Given the description of an element on the screen output the (x, y) to click on. 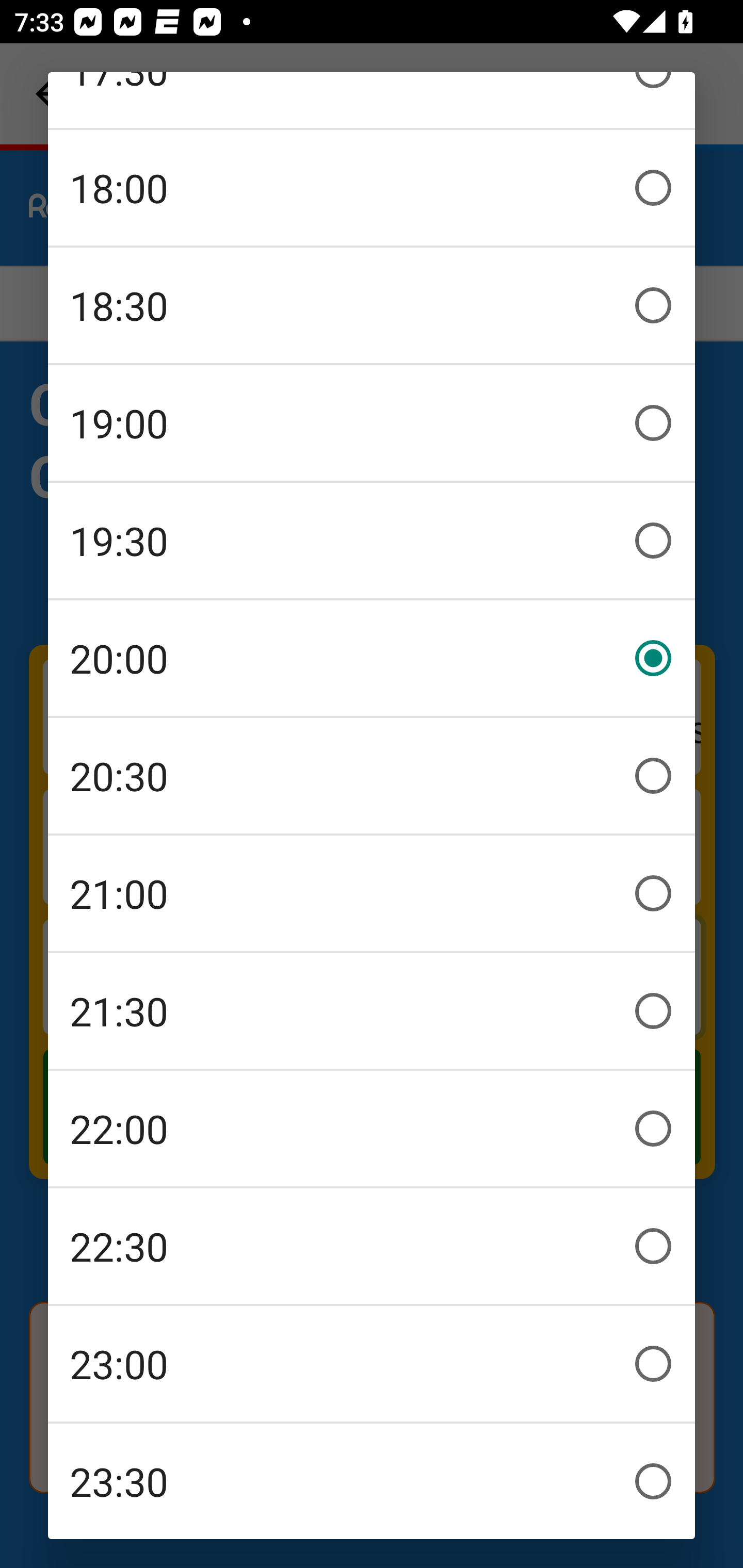
18:00 (371, 188)
18:30 (371, 305)
19:00 (371, 423)
19:30 (371, 540)
20:00 (371, 658)
20:30 (371, 776)
21:00 (371, 893)
21:30 (371, 1011)
22:00 (371, 1128)
22:30 (371, 1246)
23:00 (371, 1364)
23:30 (371, 1481)
